Given the description of an element on the screen output the (x, y) to click on. 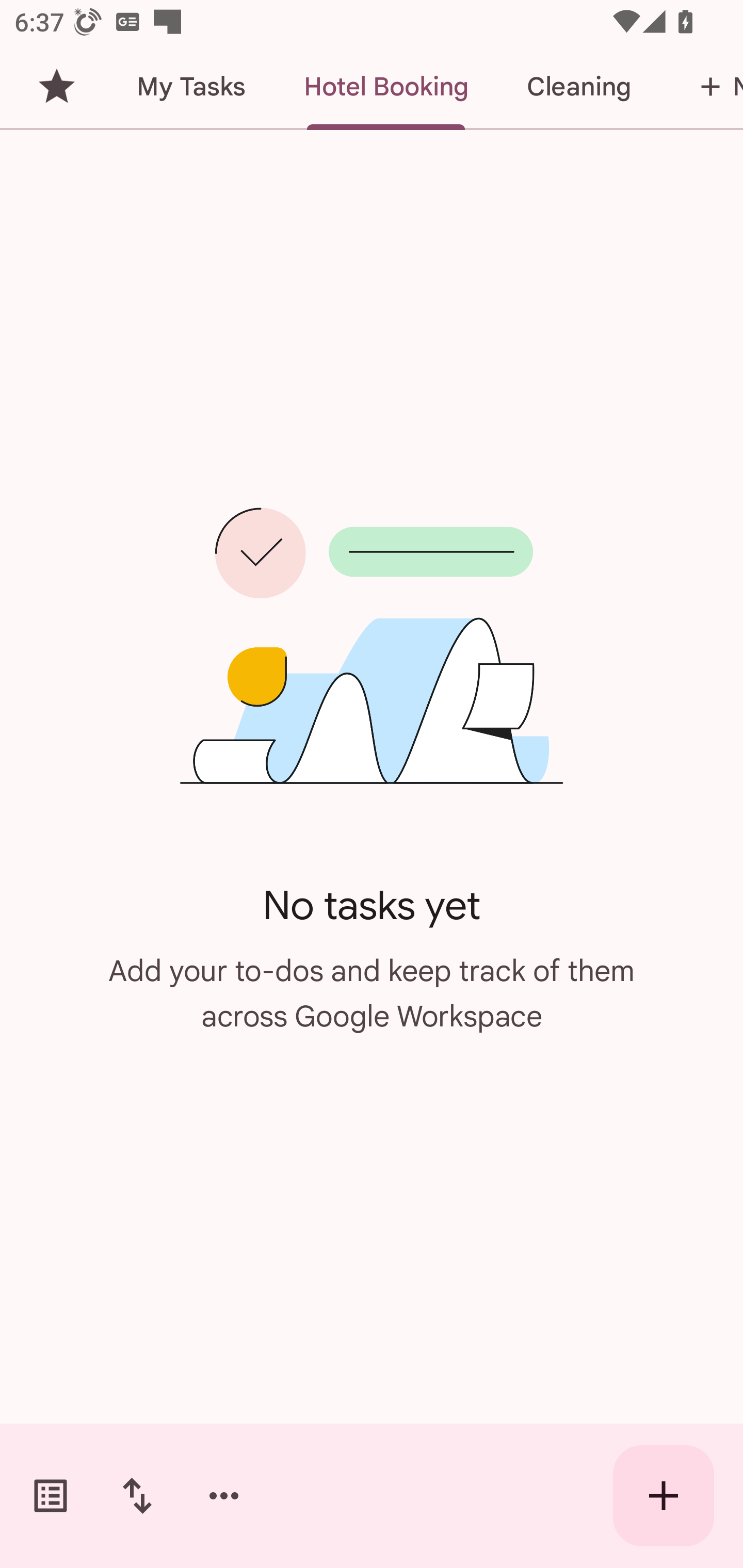
Starred (55, 86)
My Tasks (190, 86)
Cleaning (578, 86)
Switch task lists (50, 1495)
Create new task (663, 1495)
Change sort order (136, 1495)
More options (223, 1495)
